Given the description of an element on the screen output the (x, y) to click on. 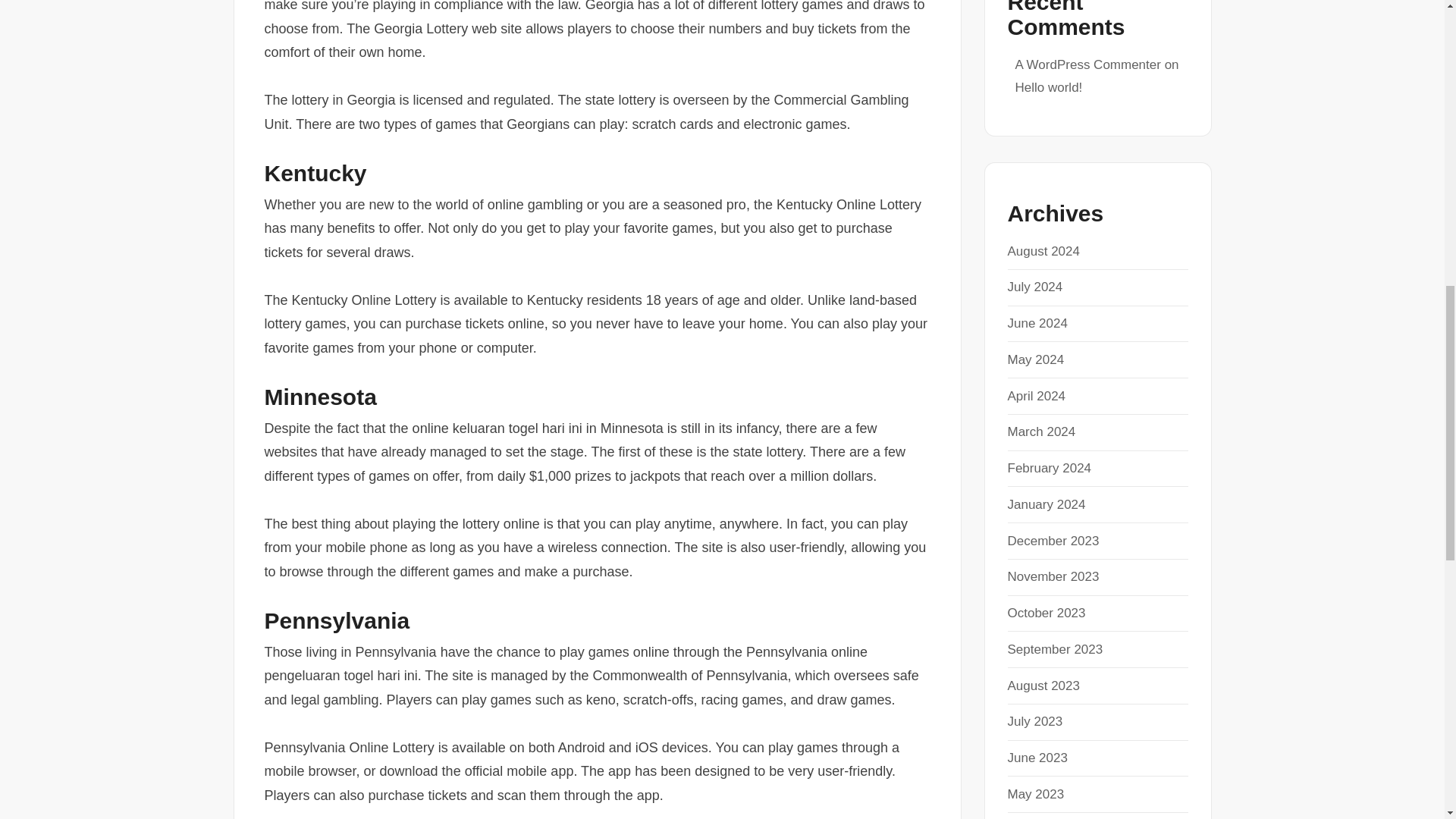
A WordPress Commenter (1087, 64)
March 2024 (1041, 431)
August 2023 (1042, 685)
November 2023 (1053, 576)
October 2023 (1045, 612)
September 2023 (1054, 649)
July 2024 (1034, 287)
August 2024 (1042, 251)
July 2023 (1034, 721)
April 2024 (1036, 396)
